Given the description of an element on the screen output the (x, y) to click on. 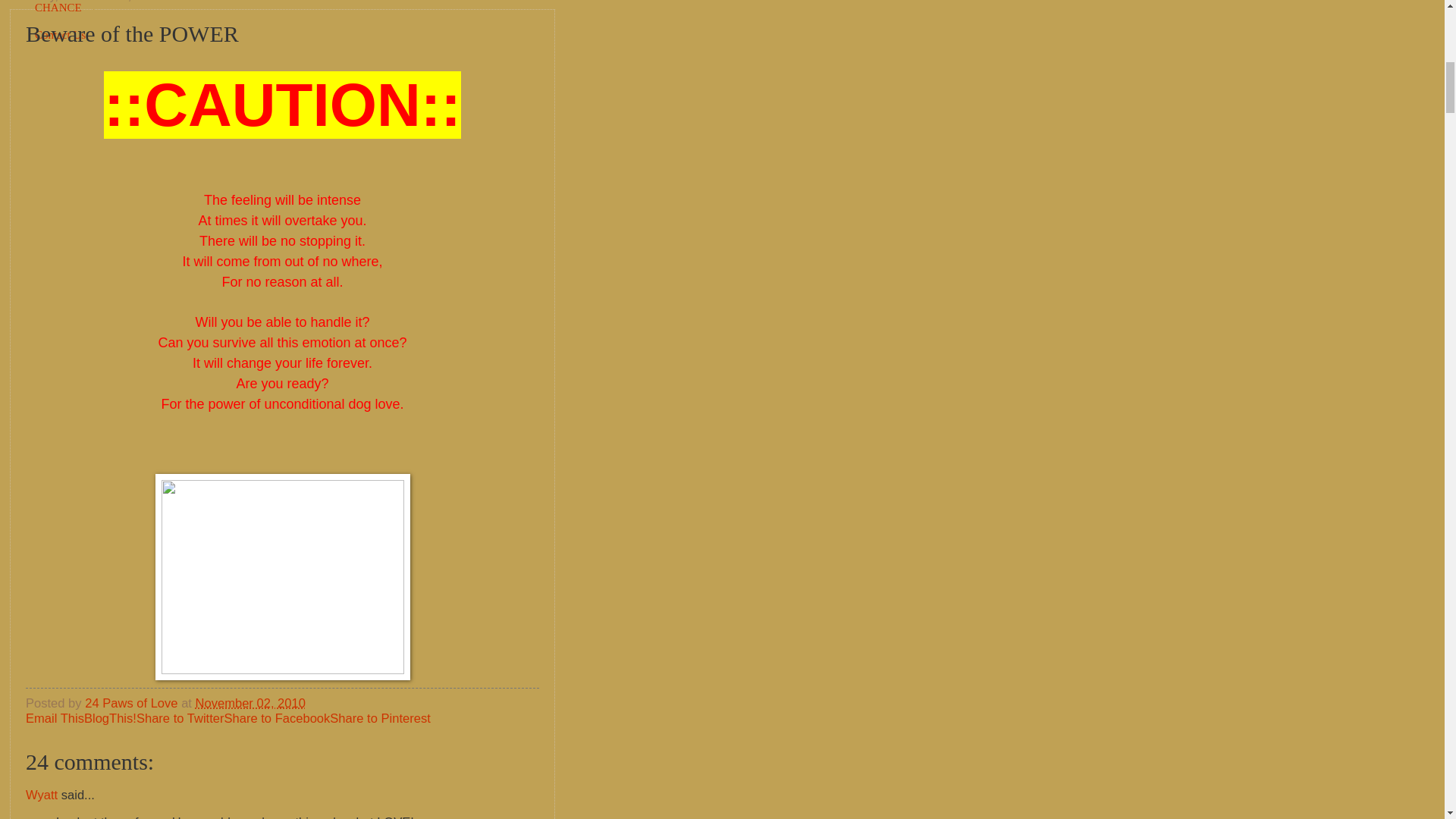
author profile (132, 703)
CHANCE (58, 8)
November 02, 2010 (250, 703)
Share to Pinterest (379, 718)
Email This (55, 718)
Share to Twitter (180, 718)
Contact Us (60, 35)
BlogThis! (110, 718)
permanent link (250, 703)
Share to Facebook (277, 718)
BlogThis! (110, 718)
Share to Twitter (180, 718)
24 Paws of Love (132, 703)
Share to Facebook (277, 718)
Share to Pinterest (379, 718)
